Given the description of an element on the screen output the (x, y) to click on. 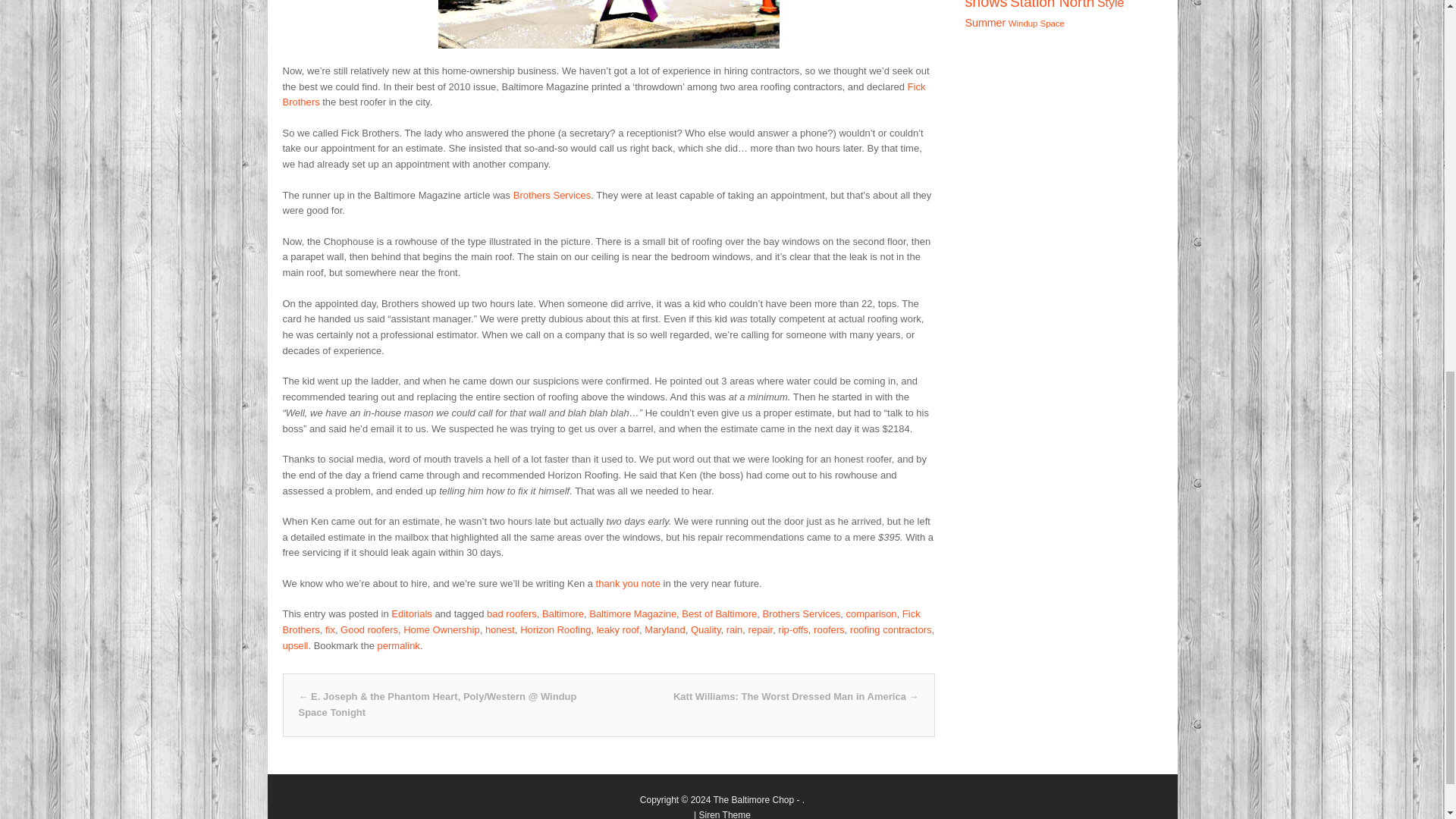
The Baltimore Chop (753, 799)
Permalink to A Side By Side Comparison of Baltimore Roofers (398, 645)
